Given the description of an element on the screen output the (x, y) to click on. 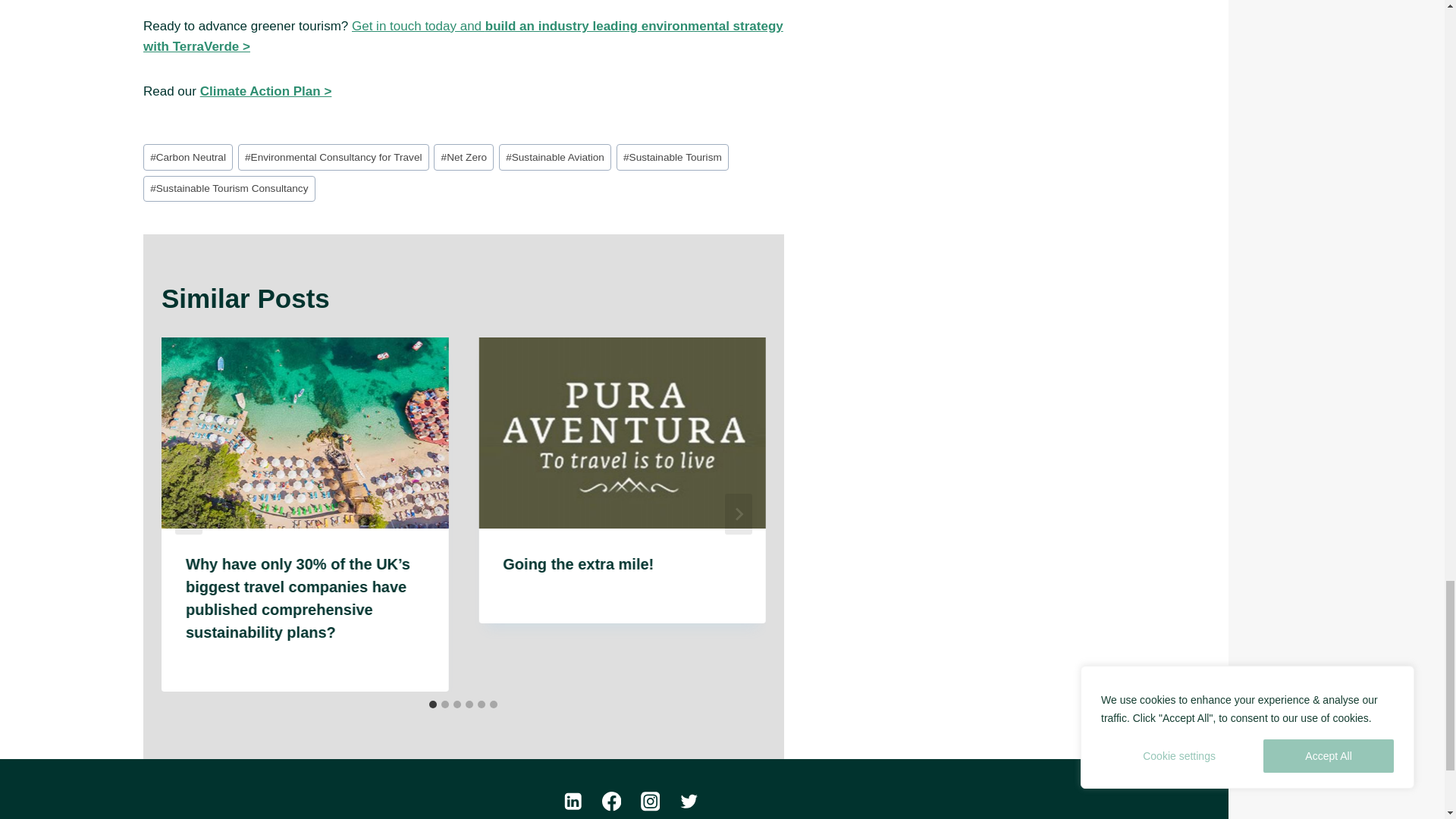
Carbon Neutral (187, 157)
Environmental Consultancy for Travel (333, 157)
Sustainable Tourism Consultancy (228, 189)
Sustainable Aviation (555, 157)
Net Zero (463, 157)
Sustainable Tourism (672, 157)
